Given the description of an element on the screen output the (x, y) to click on. 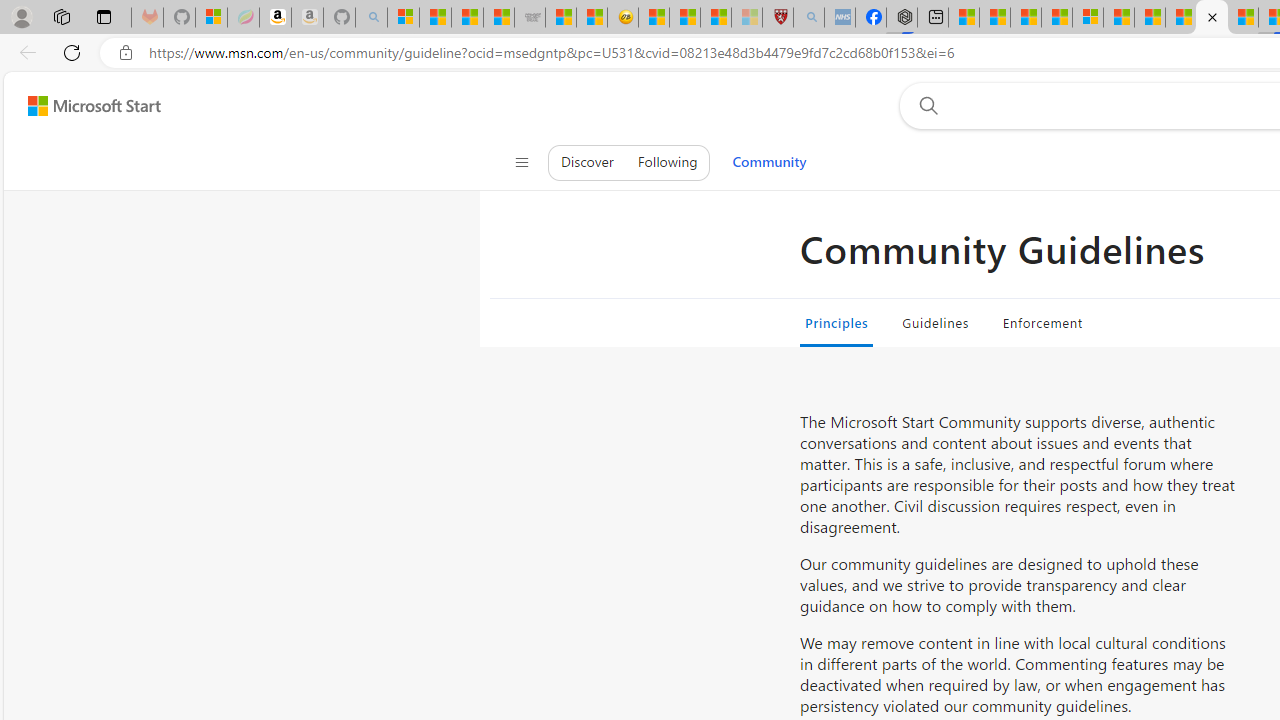
Recipes - MSN (653, 17)
Nordace - Nordace Siena Is Not An Ordinary Backpack (901, 17)
Trusted Community Engagement and Contributions | Guidelines (1211, 17)
Discover (587, 162)
Science - MSN (715, 17)
Microsoft Start (1118, 17)
Class: control icon-only (521, 162)
Following (667, 161)
Guidelines (935, 322)
Enforcement (1042, 322)
Stocks - MSN (498, 17)
